Given the description of an element on the screen output the (x, y) to click on. 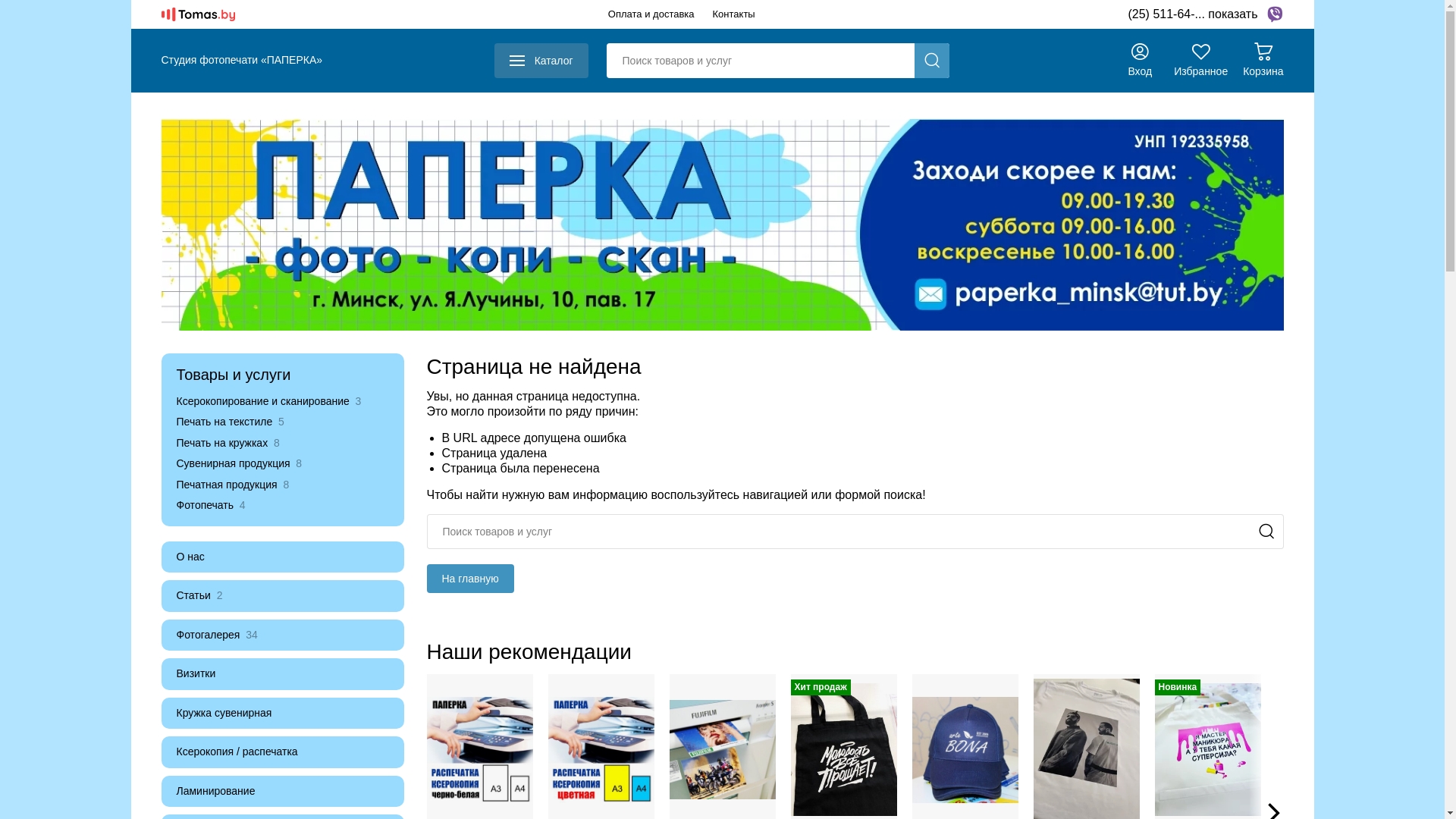
Viber Element type: hover (1273, 14)
